Given the description of an element on the screen output the (x, y) to click on. 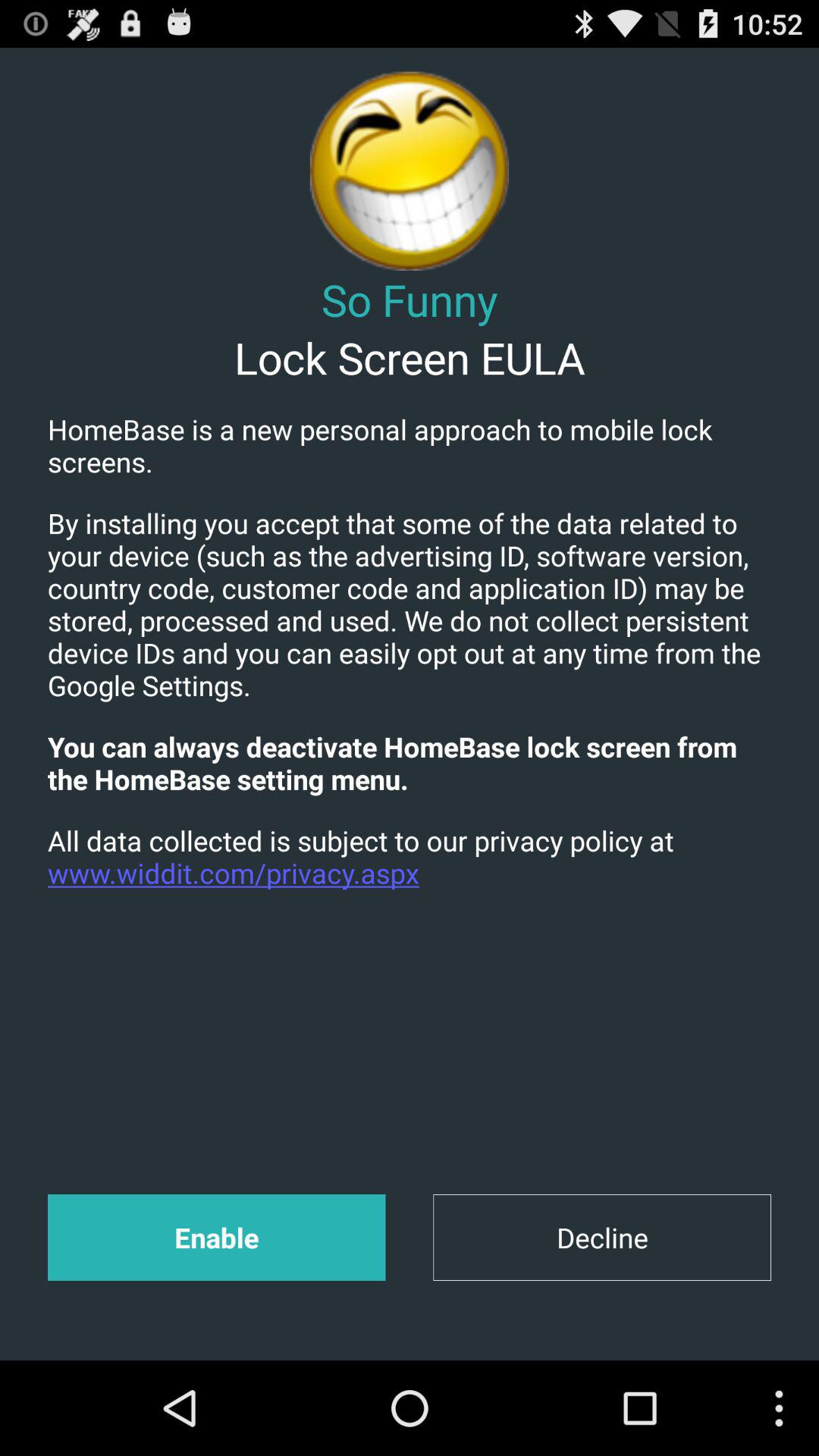
select item below you can always item (409, 856)
